Given the description of an element on the screen output the (x, y) to click on. 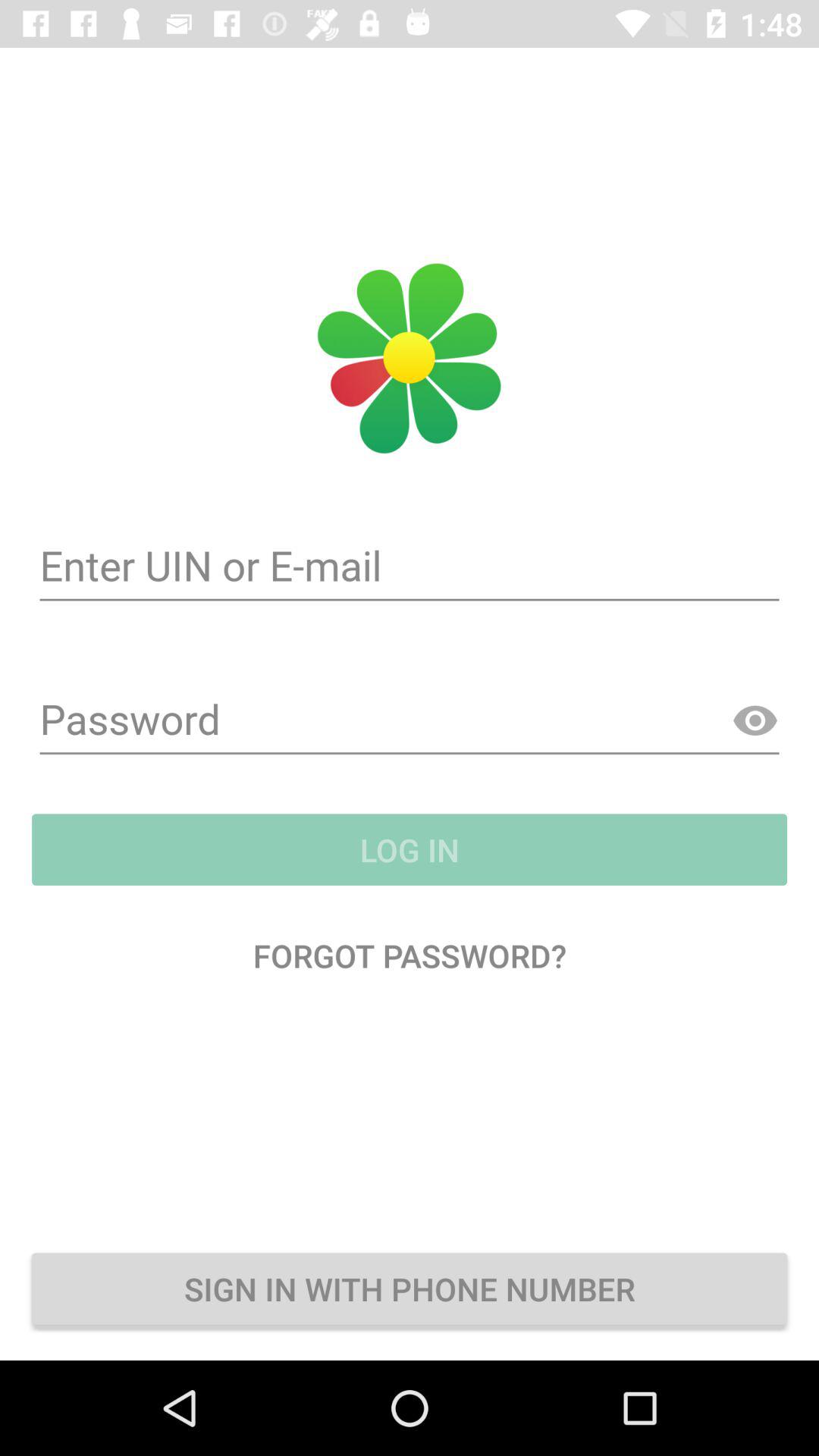
swipe to the log in item (409, 849)
